Given the description of an element on the screen output the (x, y) to click on. 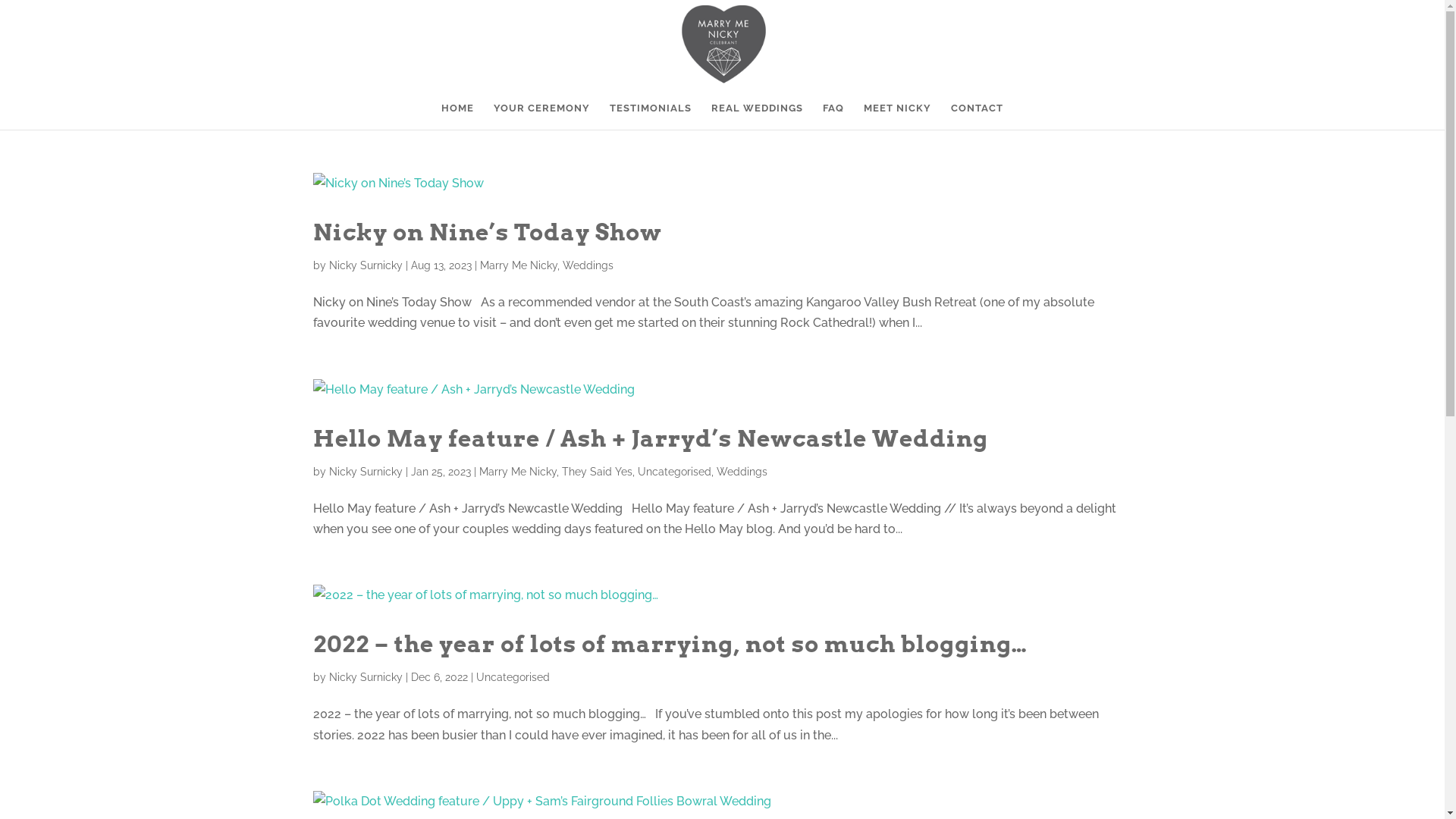
FAQ Element type: text (833, 116)
Marry Me Nicky Element type: text (517, 265)
HOME Element type: text (457, 116)
Nicky Surnicky Element type: text (365, 265)
Weddings Element type: text (587, 265)
Marry Me Nicky Element type: text (517, 471)
REAL WEDDINGS Element type: text (757, 116)
Weddings Element type: text (740, 471)
Nicky Surnicky Element type: text (365, 677)
Uncategorised Element type: text (673, 471)
YOUR CEREMONY Element type: text (541, 116)
CONTACT Element type: text (976, 116)
TESTIMONIALS Element type: text (650, 116)
Uncategorised Element type: text (512, 677)
MEET NICKY Element type: text (897, 116)
Nicky Surnicky Element type: text (365, 471)
They Said Yes Element type: text (596, 471)
